Given the description of an element on the screen output the (x, y) to click on. 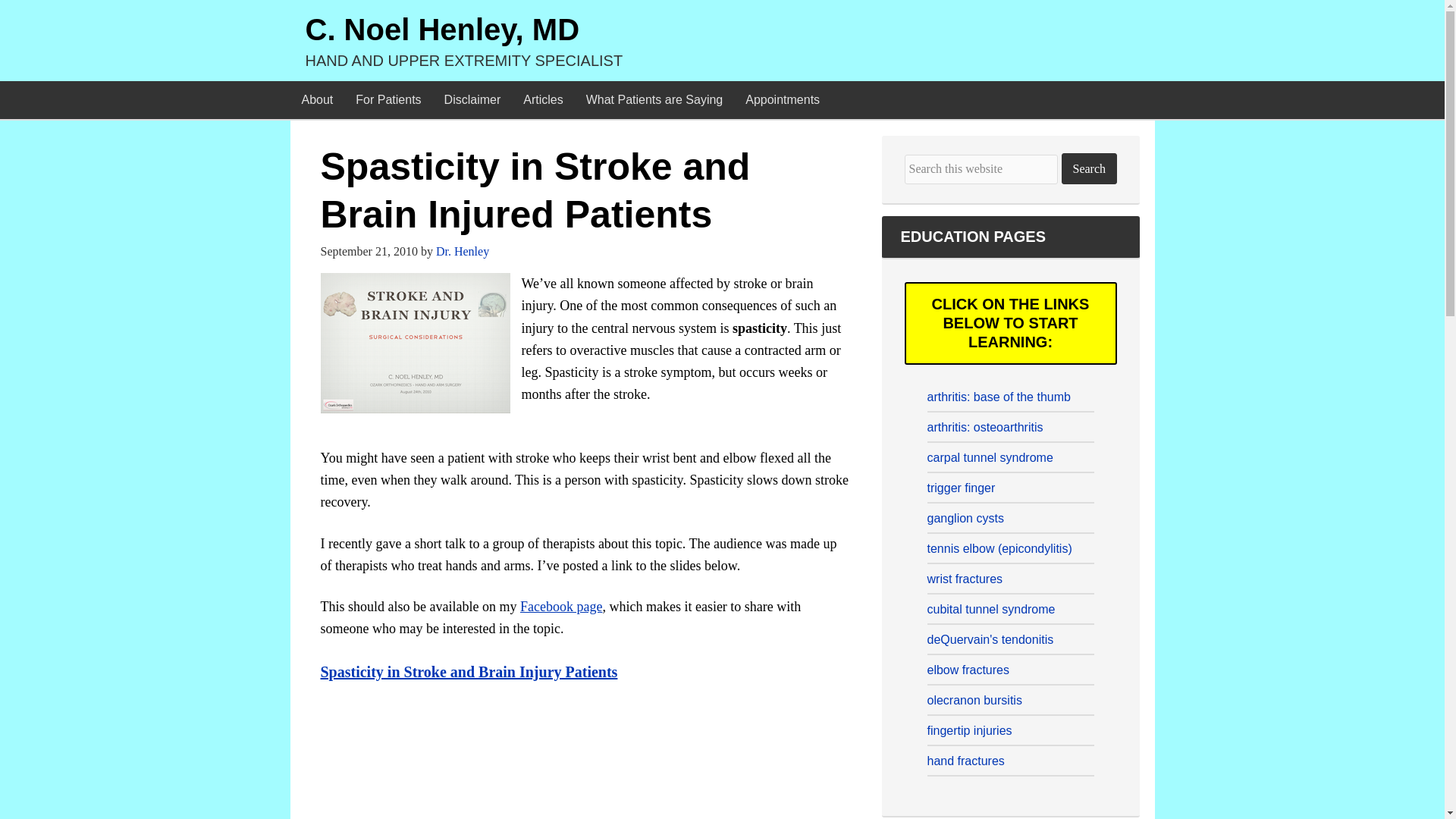
Dr. Henley (462, 250)
About (316, 99)
Disclaimer (472, 99)
Spasticity in Stroke and Brain Injury Patients (468, 670)
What Patients are Saying (655, 99)
ganglion cysts (964, 517)
Search (1089, 168)
Articles (542, 99)
stroke injury presentation (414, 342)
hand fractures (965, 760)
